Given the description of an element on the screen output the (x, y) to click on. 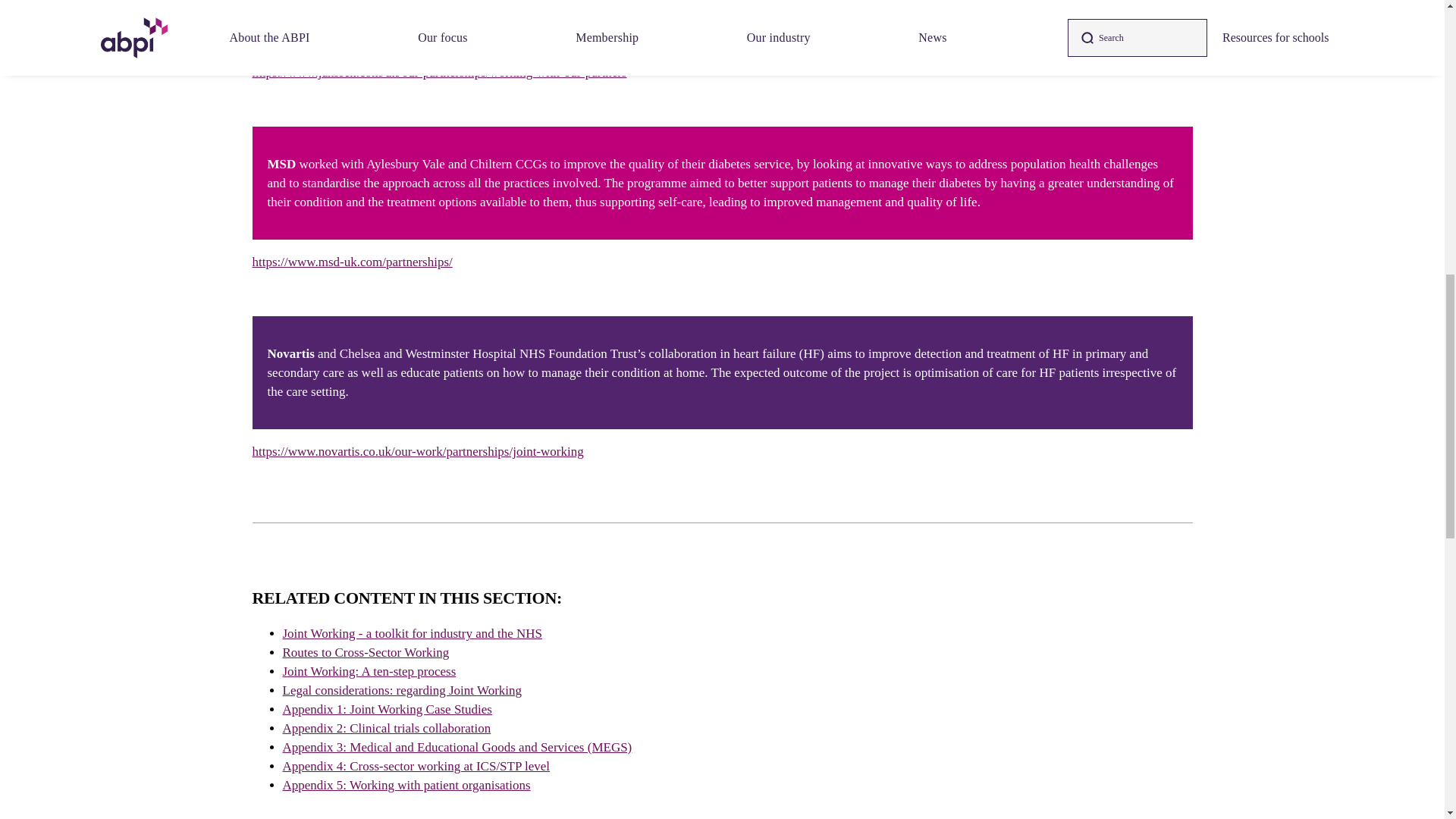
Legal considerations: regarding Joint Working (401, 690)
Appendix 5: Working with patient organisations (405, 785)
Routes to Cross-Sector Working (365, 652)
Appendix 1: Joint Working Case Studies (387, 708)
Joint Working: A ten-step process (368, 671)
Joint Working - a toolkit for industry and the NHS (411, 633)
Appendix 2: Clinical trials collaboration (386, 728)
